Given the description of an element on the screen output the (x, y) to click on. 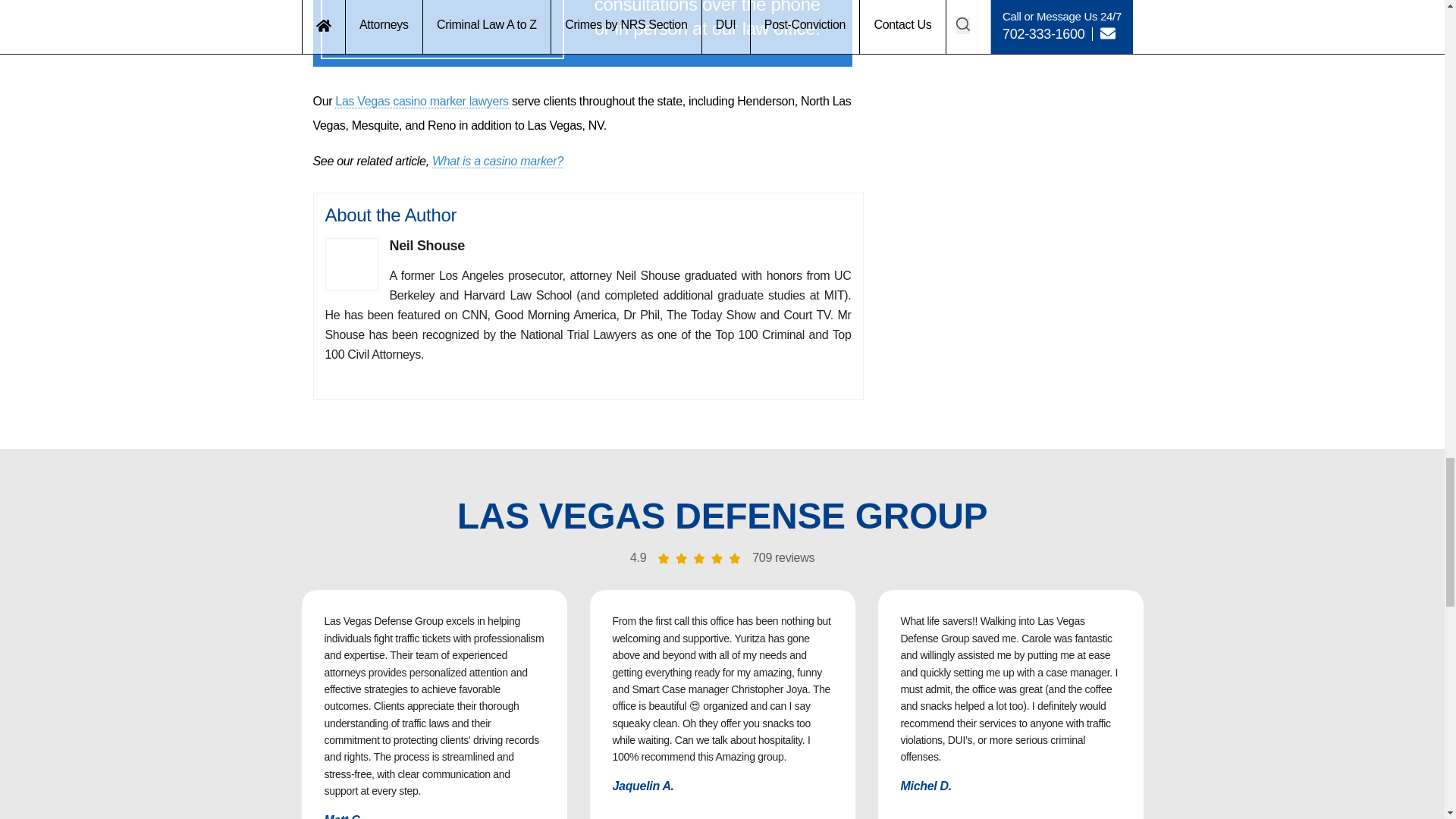
Las Vegas casino marker lawyers (421, 101)
What is a casino marker? (497, 161)
